Given the description of an element on the screen output the (x, y) to click on. 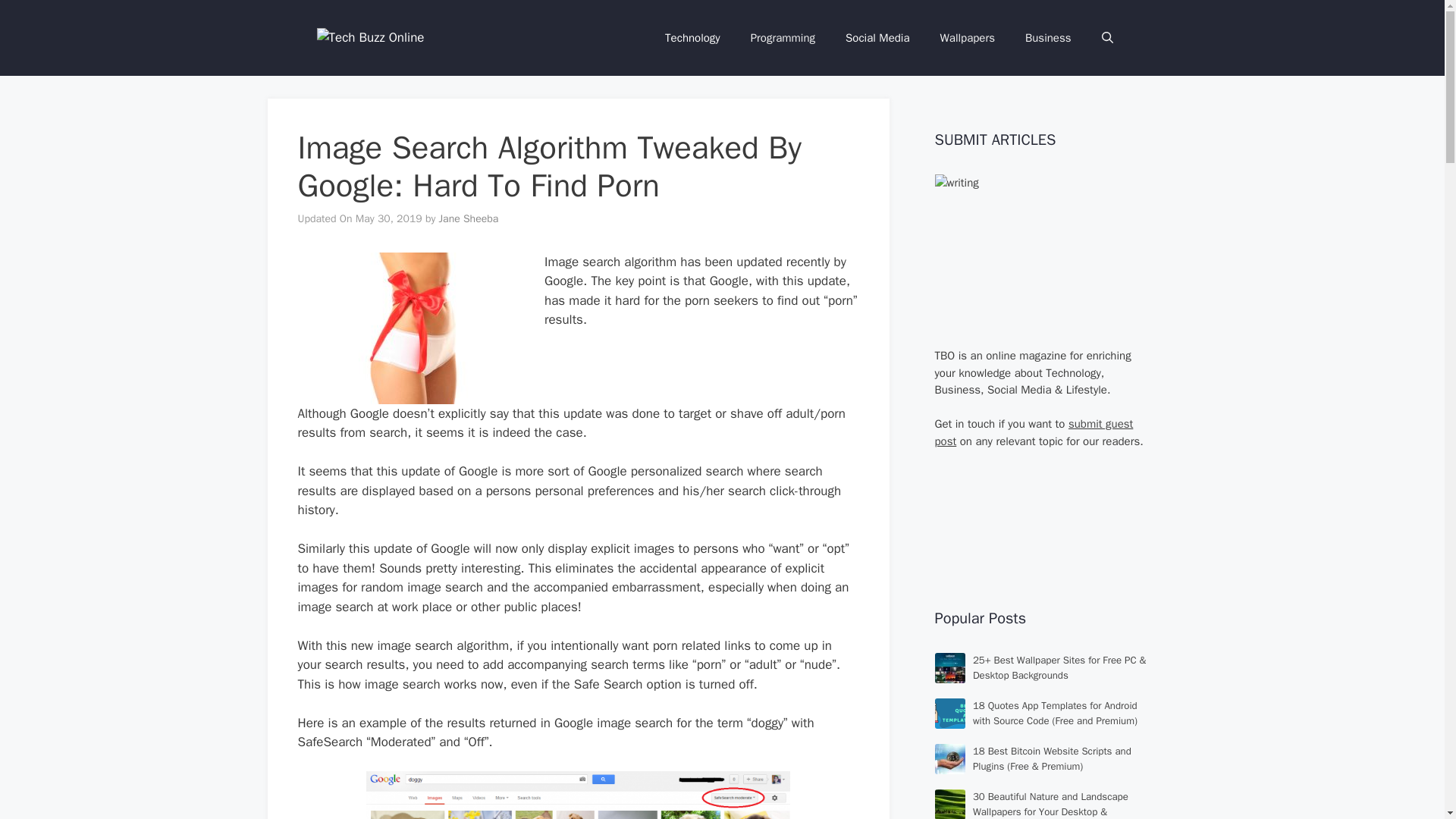
writing (1040, 252)
View all posts by Jane Sheeba (469, 218)
Hot girl with gift wrap on (410, 328)
submit guest post (1033, 431)
Jane Sheeba (469, 218)
Wallpapers (967, 37)
Programming (782, 37)
Google image search SafeSearch Moderated (578, 795)
Technology (692, 37)
Business (1048, 37)
